Given the description of an element on the screen output the (x, y) to click on. 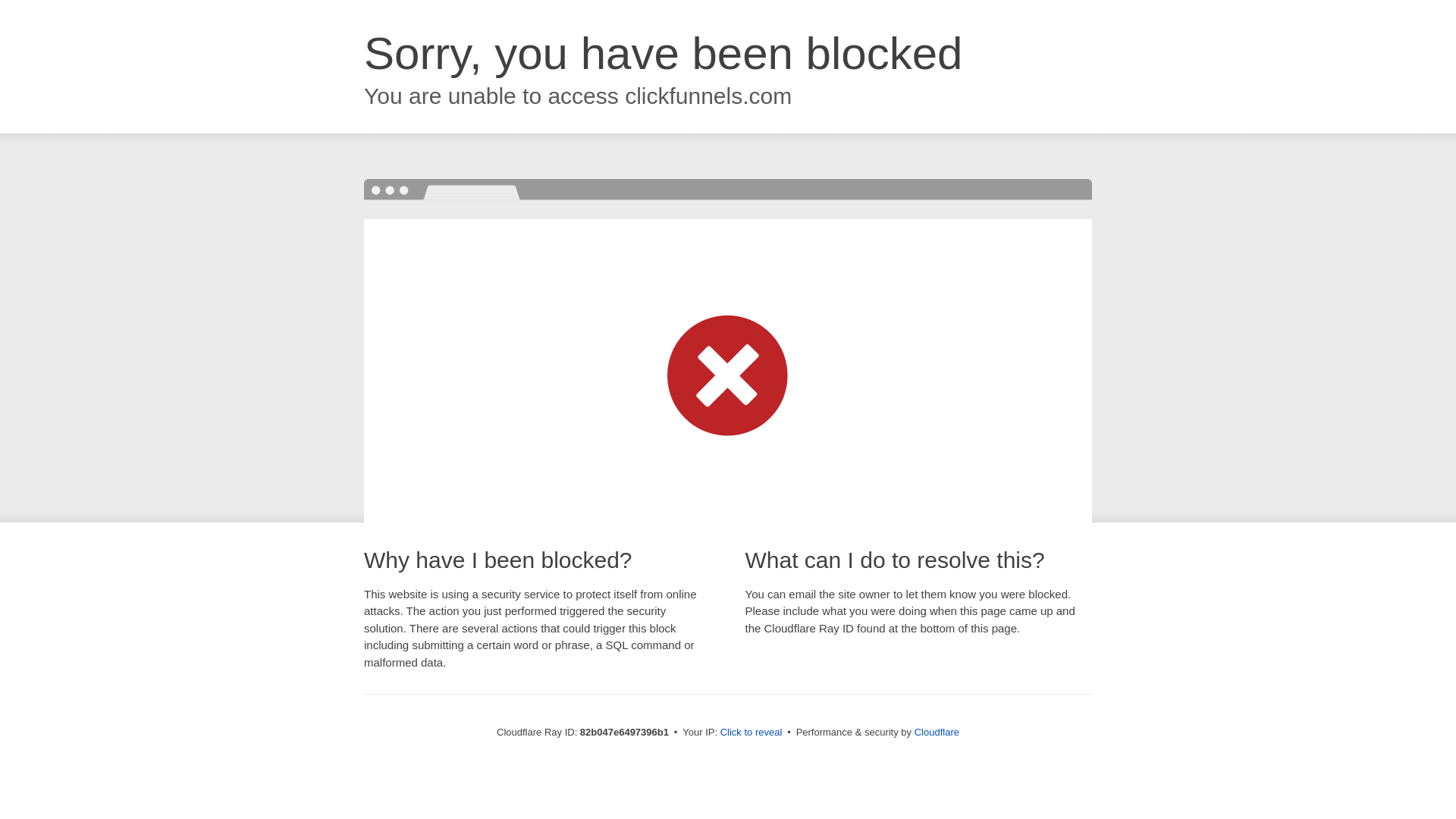
Cloudflare Element type: text (936, 731)
Click to reveal Element type: text (751, 732)
